Given the description of an element on the screen output the (x, y) to click on. 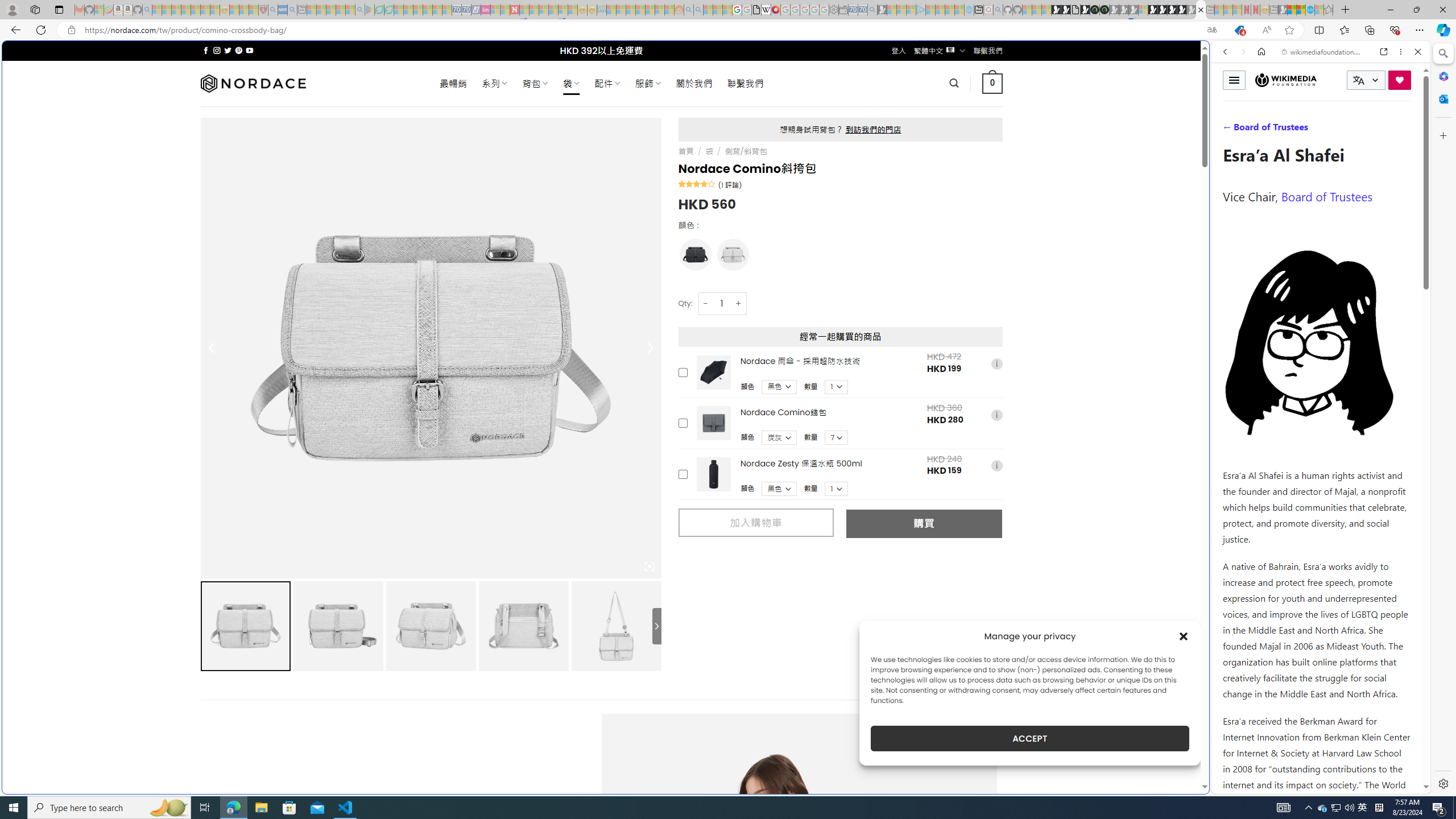
Follow on Facebook (205, 50)
ACCEPT (1029, 738)
Favorites - Sleeping (1328, 9)
